Given the description of an element on the screen output the (x, y) to click on. 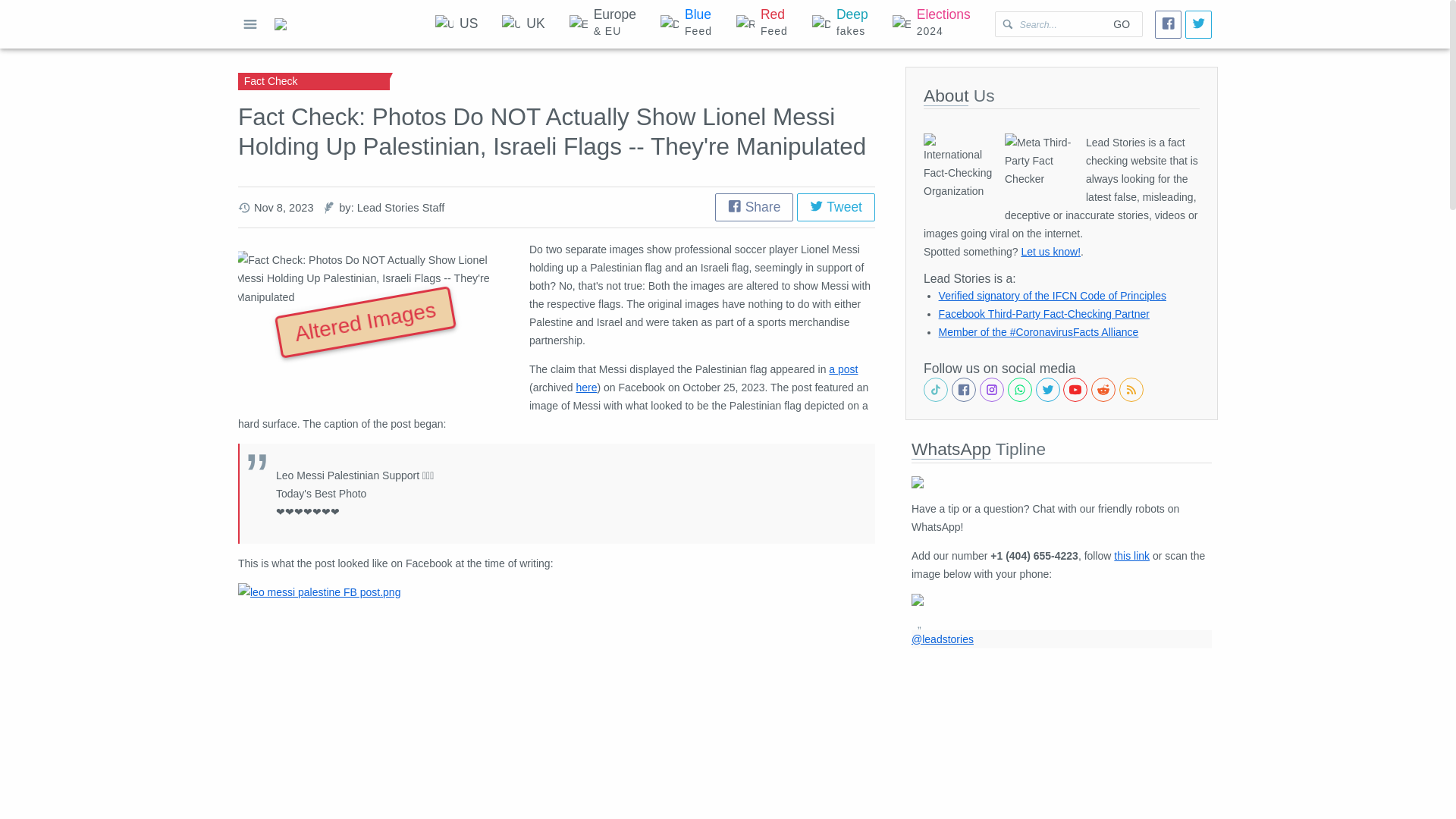
UK (761, 24)
GO (522, 24)
Share (1120, 24)
Verified signatory of the IFCN Code of Principles (753, 207)
US (685, 24)
Tweet (1052, 295)
OPEN FULL MENU (456, 24)
